Given the description of an element on the screen output the (x, y) to click on. 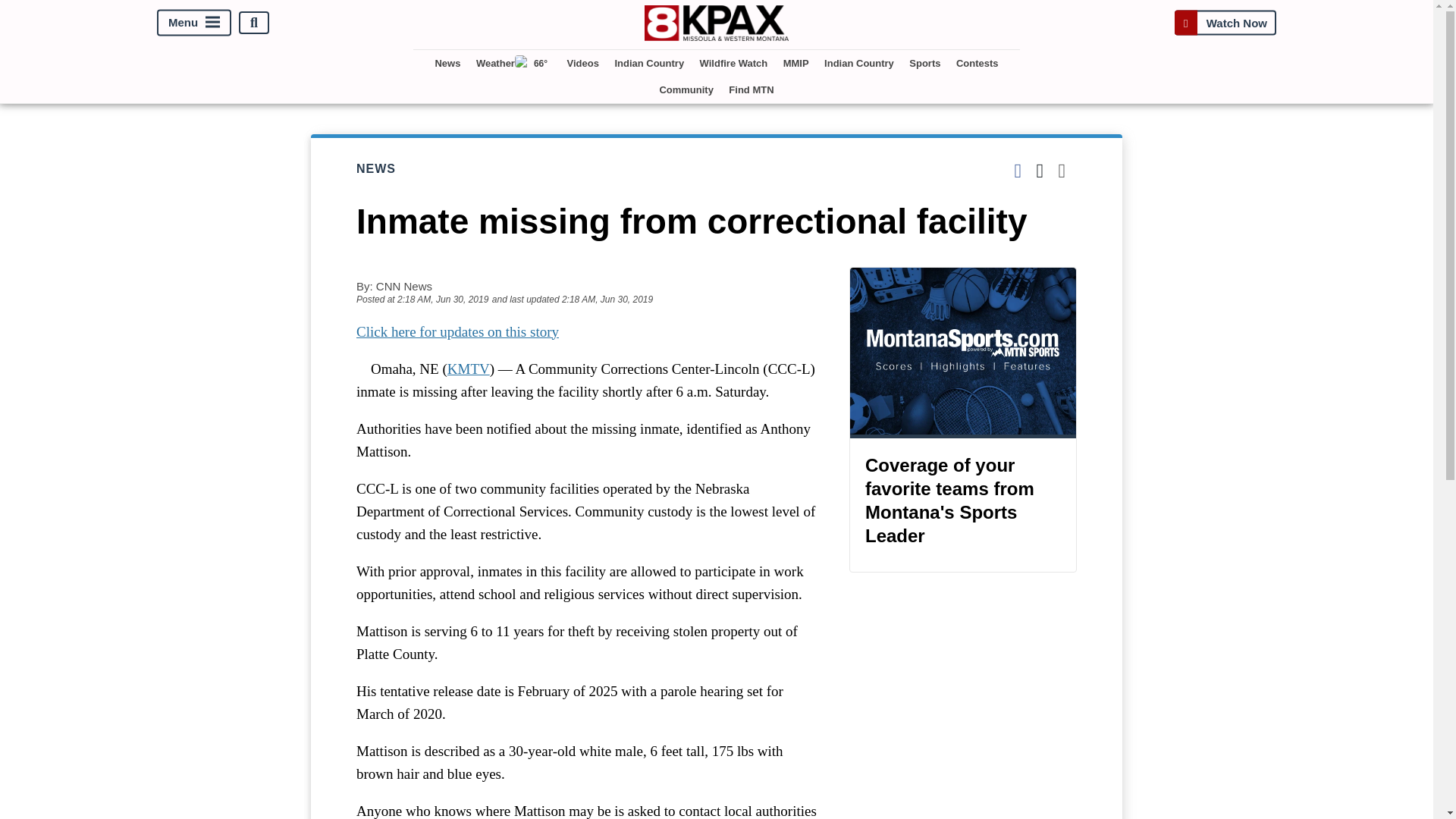
Watch Now (1224, 22)
Menu (194, 22)
